Given the description of an element on the screen output the (x, y) to click on. 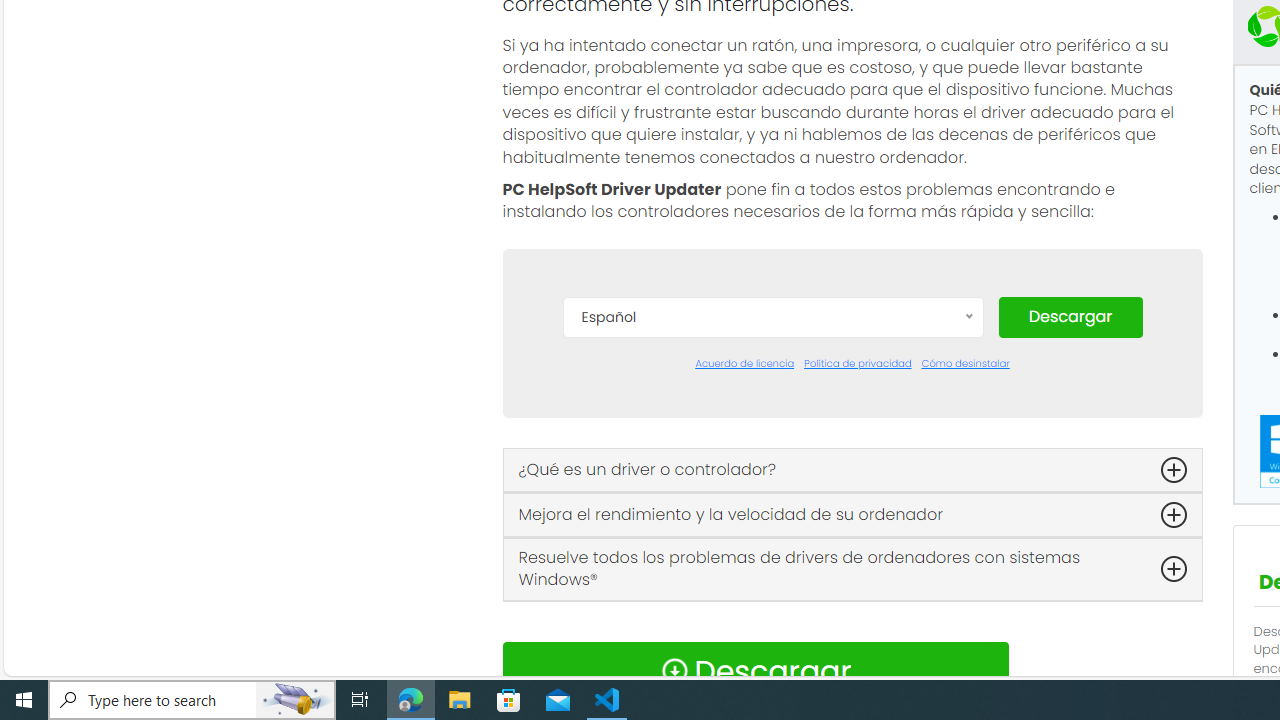
Dansk (772, 411)
